Given the description of an element on the screen output the (x, y) to click on. 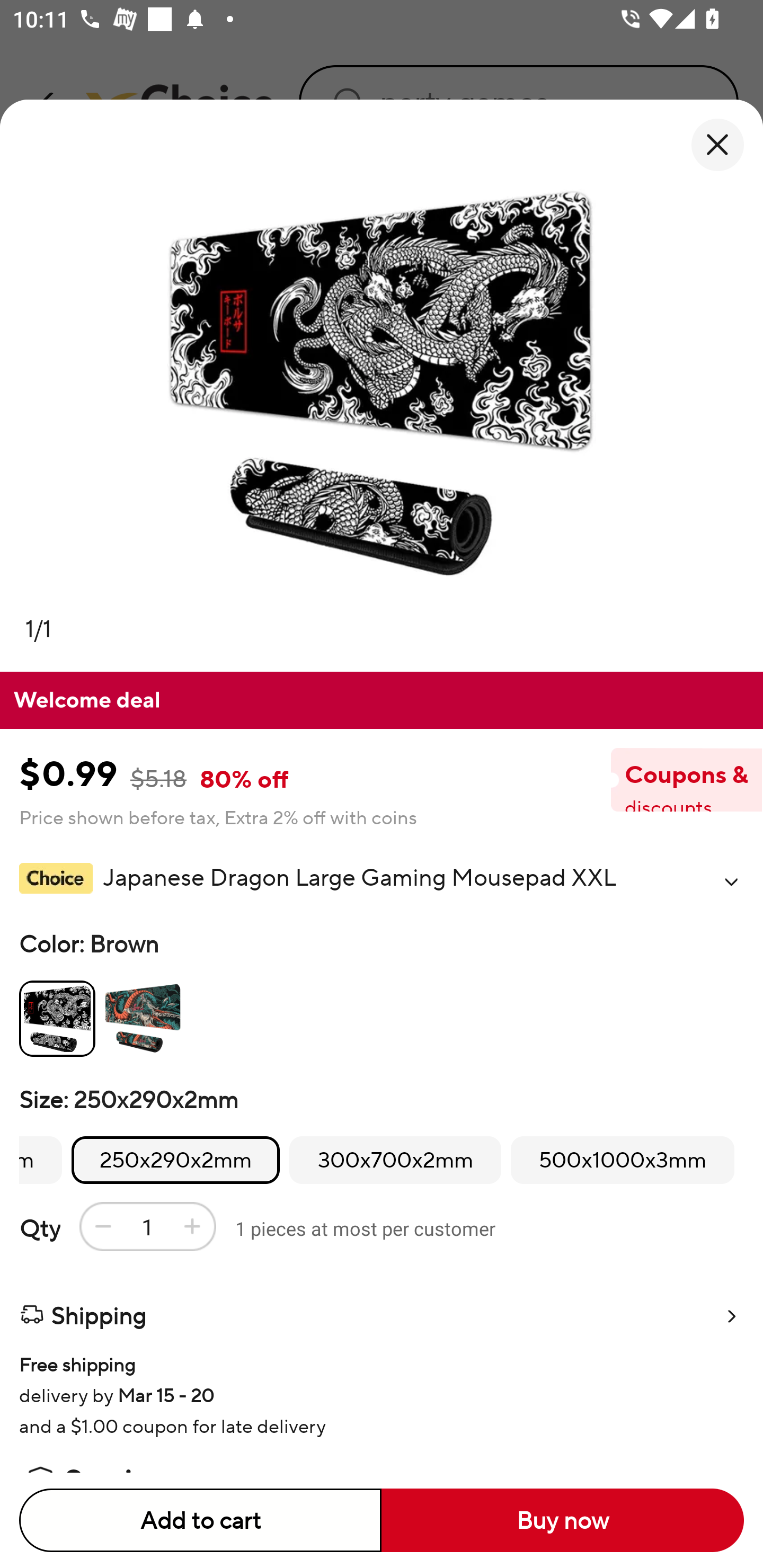
close  (717, 144)
 (730, 881)
250x290x2mm (175, 1159)
300x700x2mm (395, 1159)
500x1000x3mm (622, 1159)
Add to cart (200, 1520)
Buy now (562, 1520)
